Given the description of an element on the screen output the (x, y) to click on. 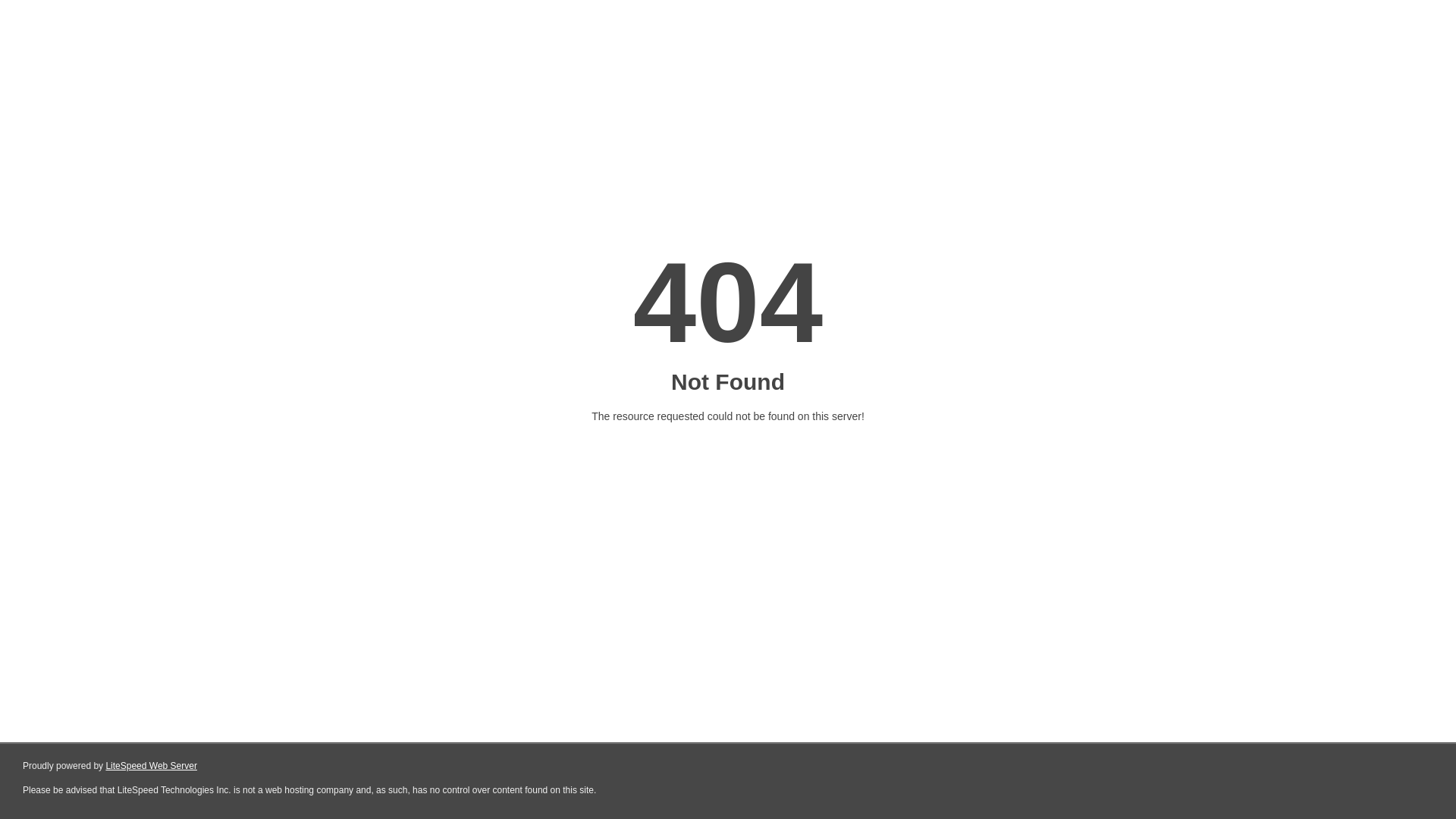
LiteSpeed Web Server Element type: text (151, 765)
